Given the description of an element on the screen output the (x, y) to click on. 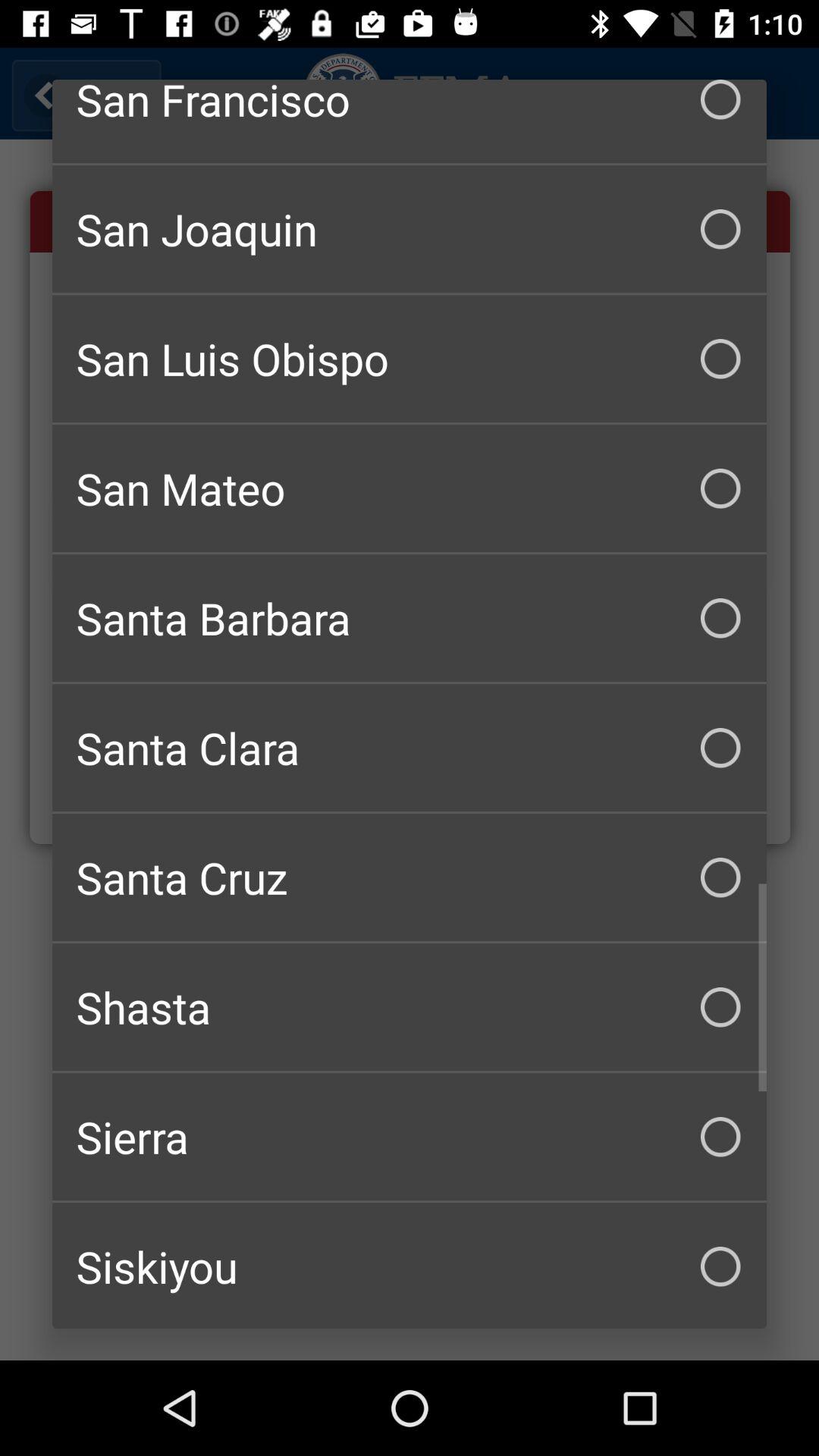
scroll to san joaquin icon (409, 228)
